Given the description of an element on the screen output the (x, y) to click on. 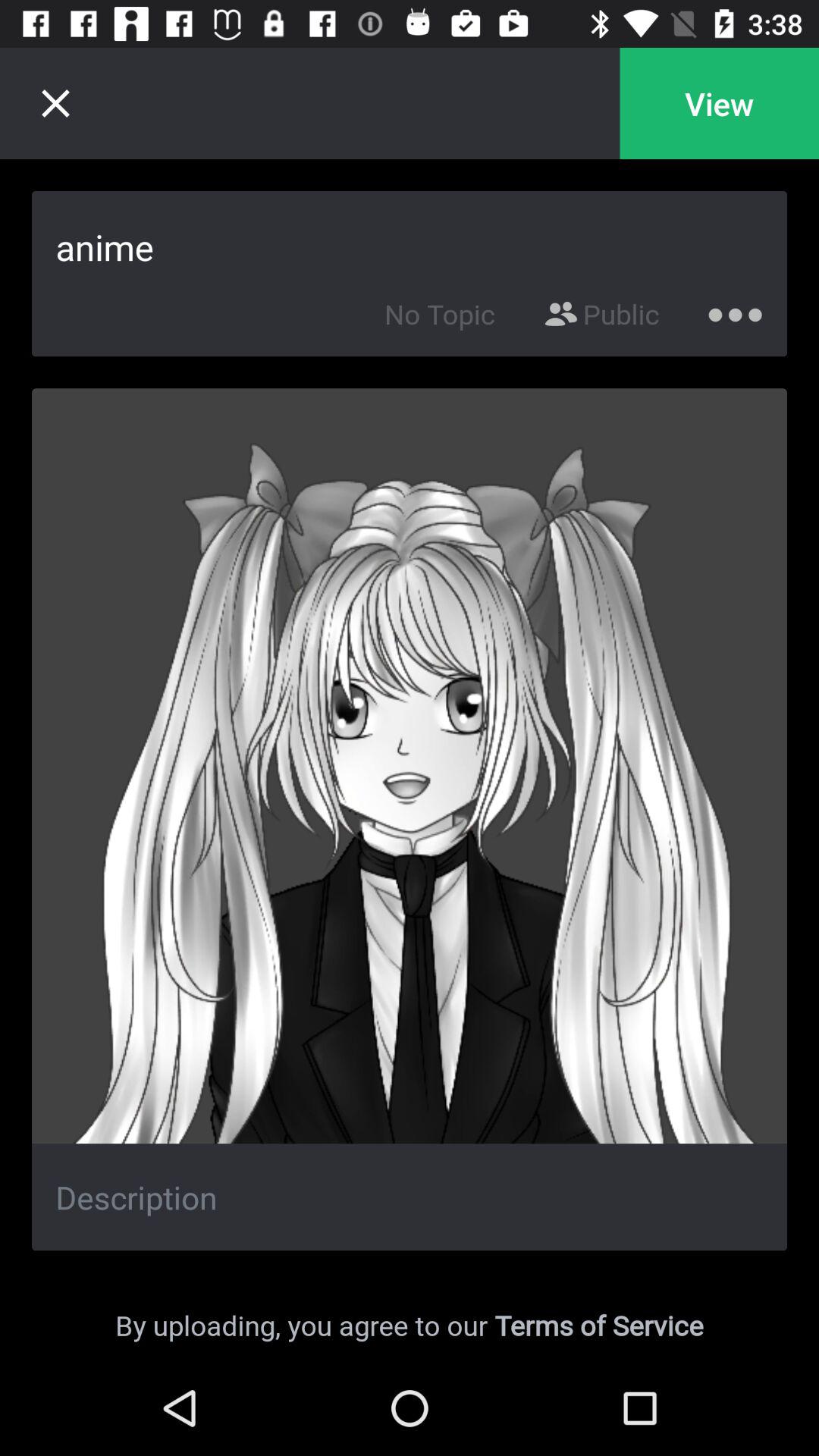
quit for menu (55, 103)
